Given the description of an element on the screen output the (x, y) to click on. 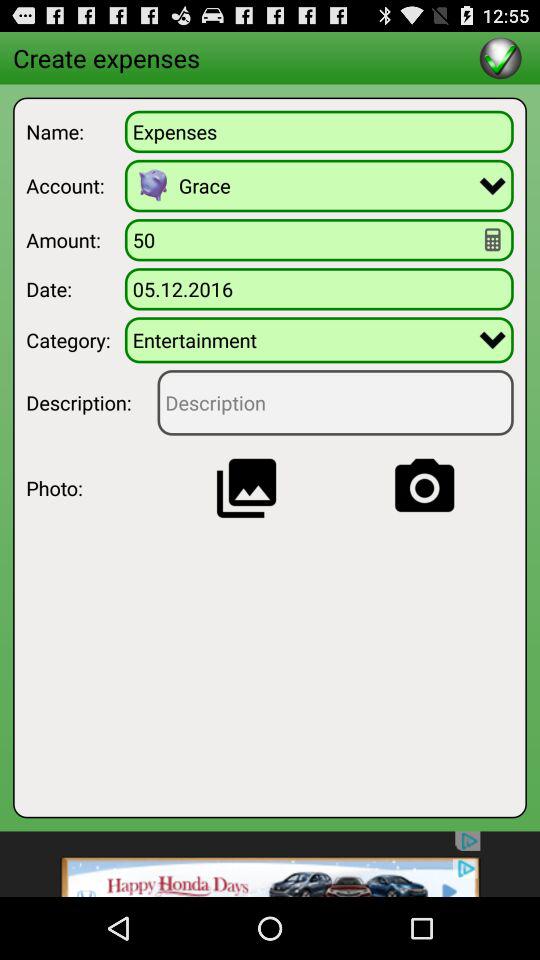
see advertisement (270, 864)
